Given the description of an element on the screen output the (x, y) to click on. 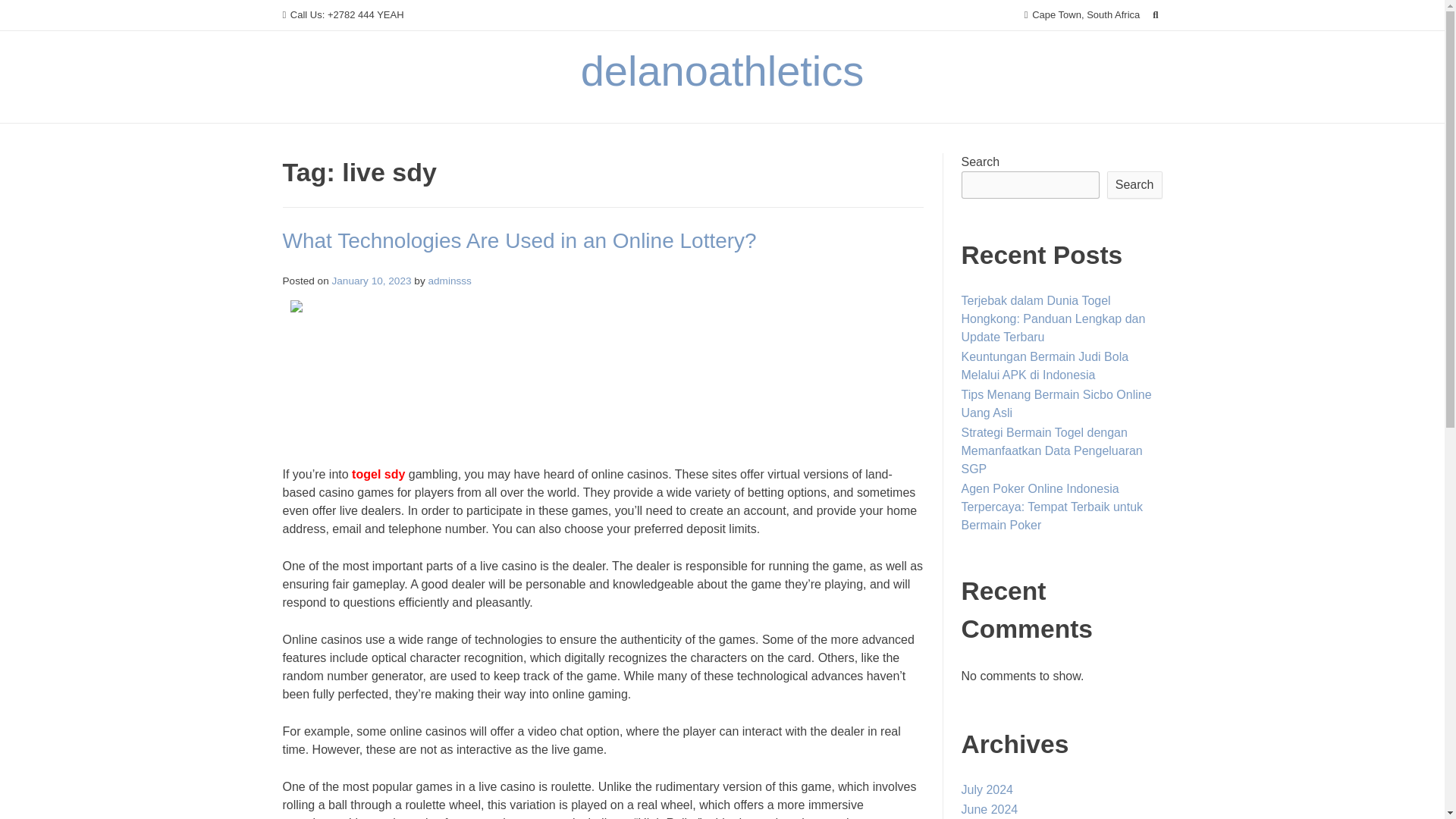
togel sdy (378, 473)
June 2024 (988, 809)
Tips Menang Bermain Sicbo Online Uang Asli (1055, 403)
January 10, 2023 (371, 280)
adminsss (449, 280)
July 2024 (986, 789)
delanoathletics (722, 70)
Search (1133, 185)
Search (27, 13)
Keuntungan Bermain Judi Bola Melalui APK di Indonesia (1044, 365)
What Technologies Are Used in an Online Lottery? (518, 240)
